Given the description of an element on the screen output the (x, y) to click on. 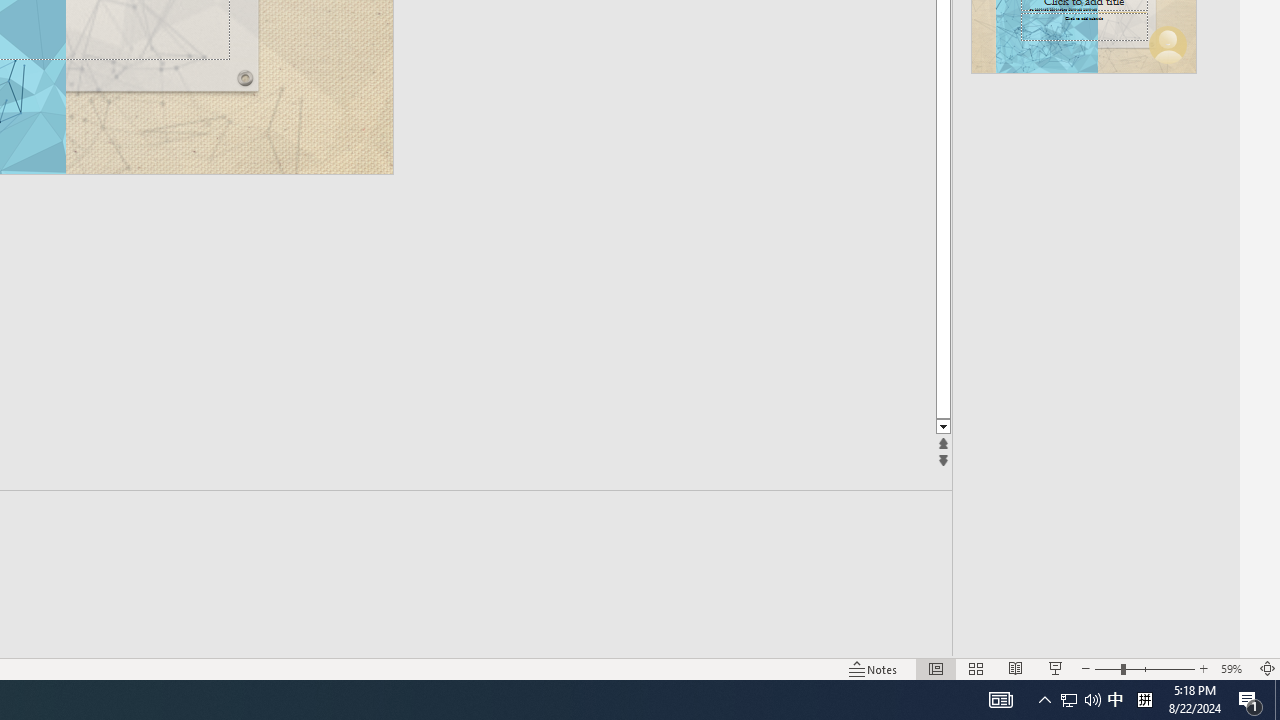
Zoom 59% (1234, 668)
